Given the description of an element on the screen output the (x, y) to click on. 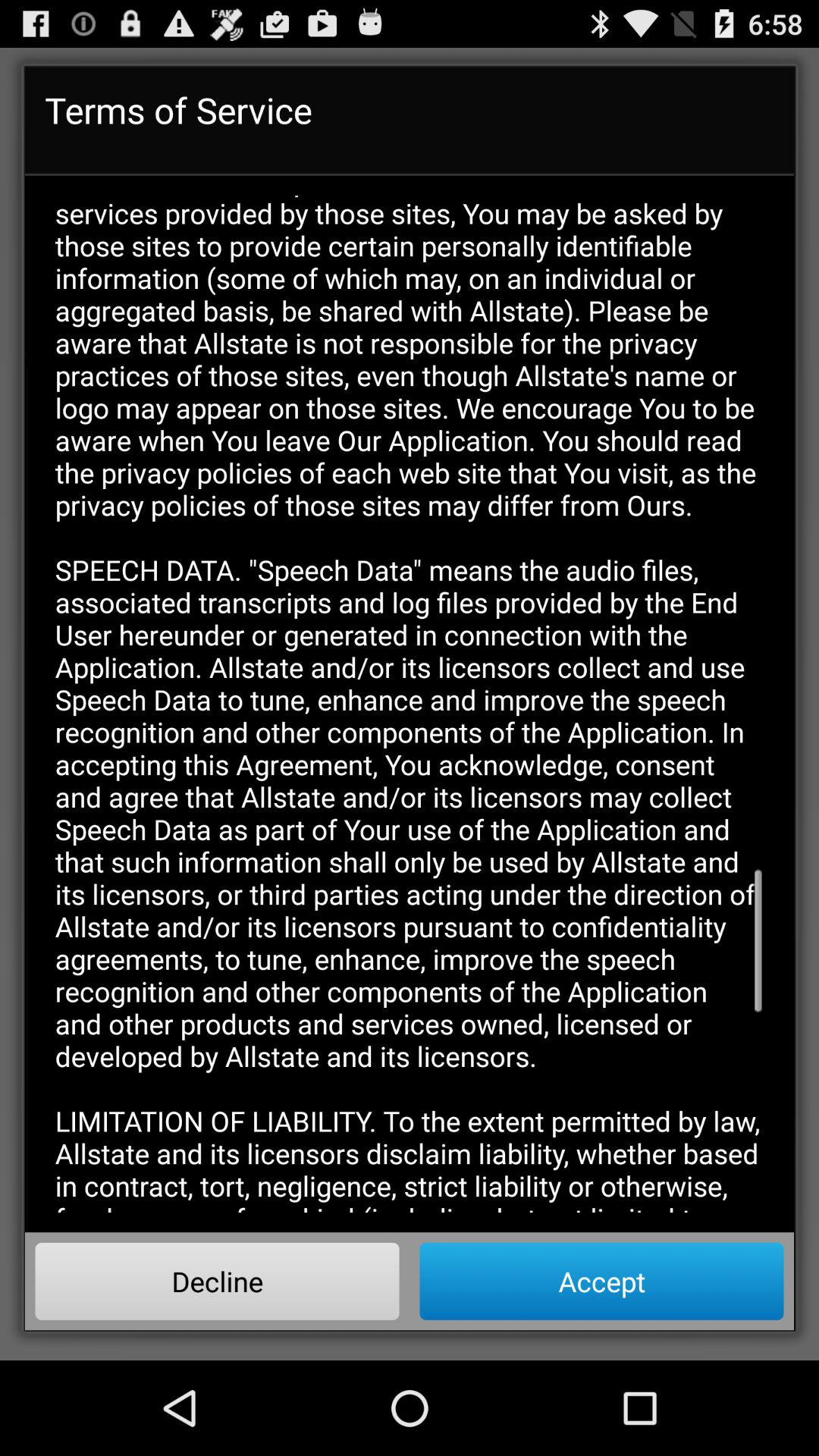
click the decline button (217, 1281)
